Given the description of an element on the screen output the (x, y) to click on. 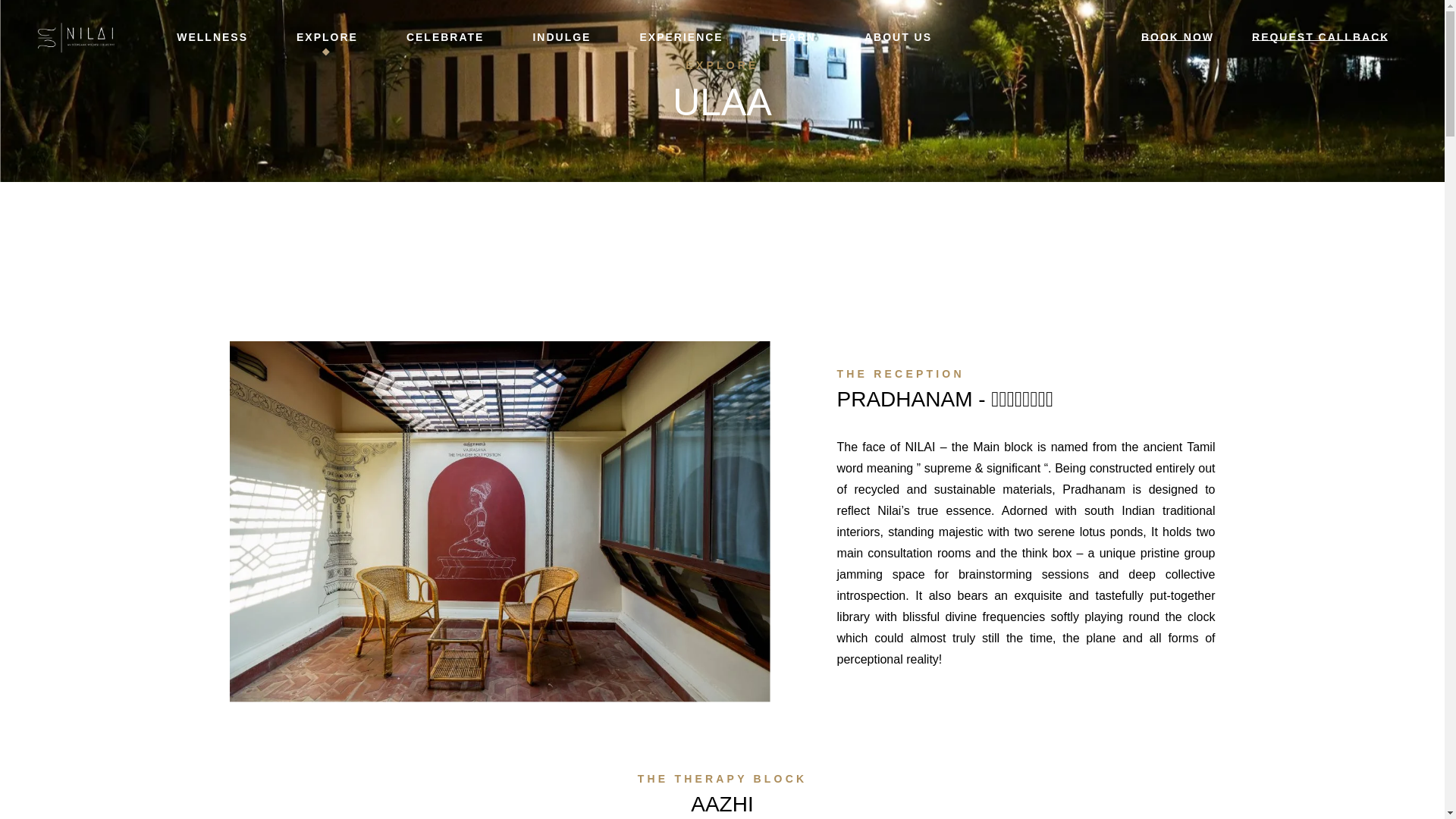
WELLNESS (211, 37)
CELEBRATE (445, 37)
EXPERIENCE (680, 37)
